Given the description of an element on the screen output the (x, y) to click on. 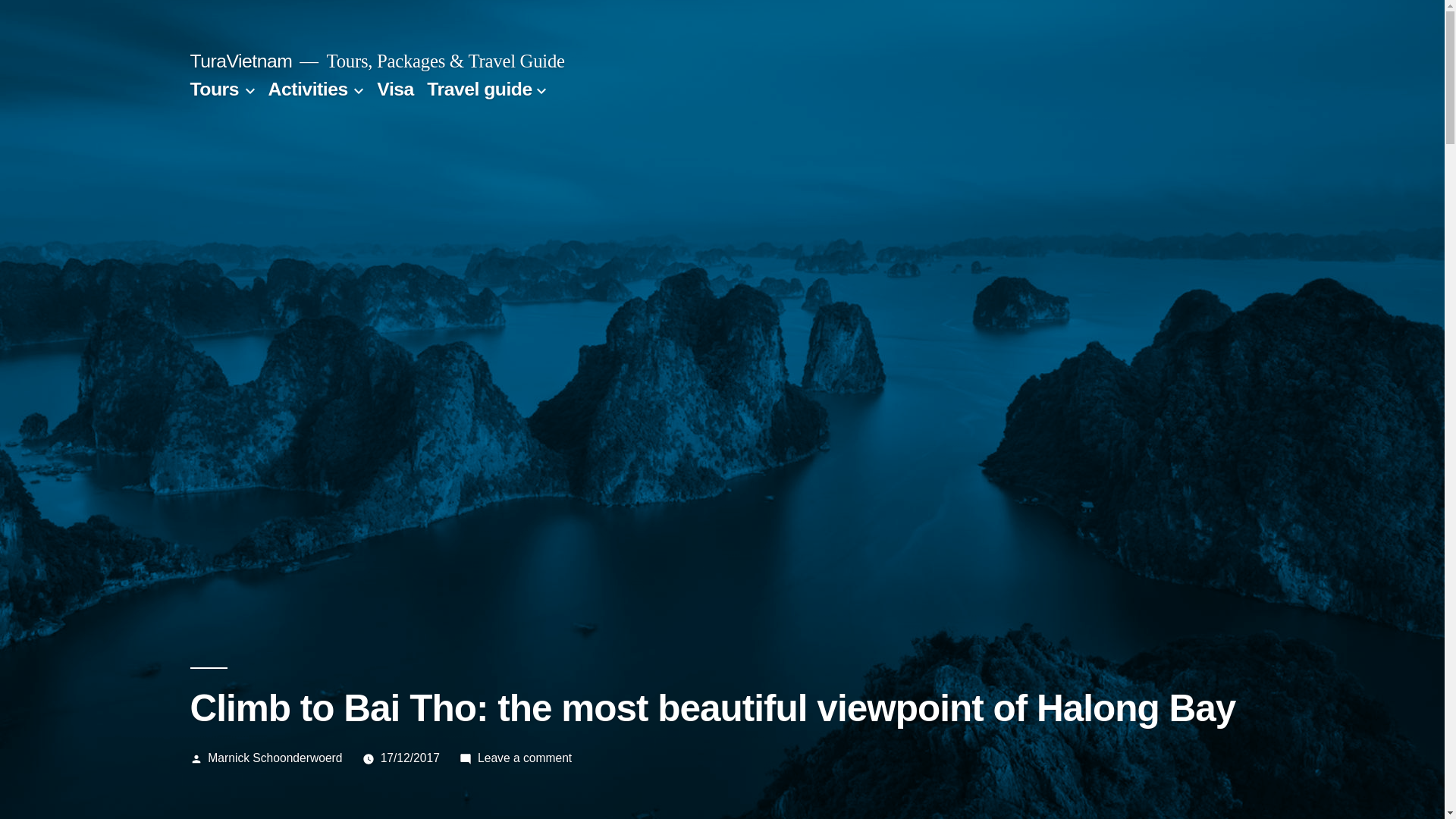
Activities (307, 88)
TuraVietnam (240, 60)
Tours (213, 88)
